Given the description of an element on the screen output the (x, y) to click on. 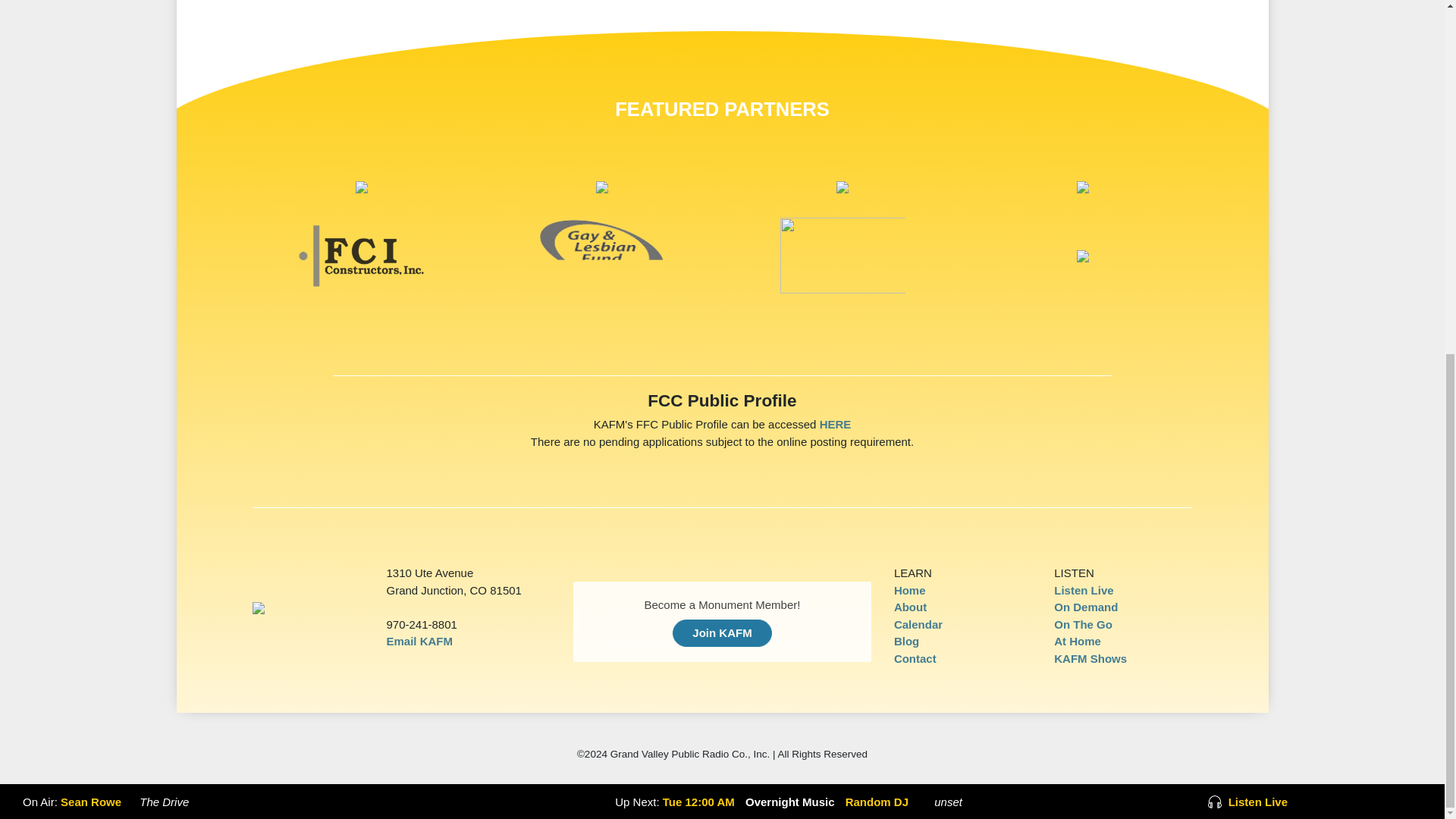
Calendar (917, 624)
Blog (905, 640)
At Home (1077, 640)
KAFM Shows (1090, 658)
Home (909, 590)
Contact (914, 658)
About (909, 606)
On The Go (1083, 624)
On Demand (1086, 606)
Listen Live (1083, 590)
